Given the description of an element on the screen output the (x, y) to click on. 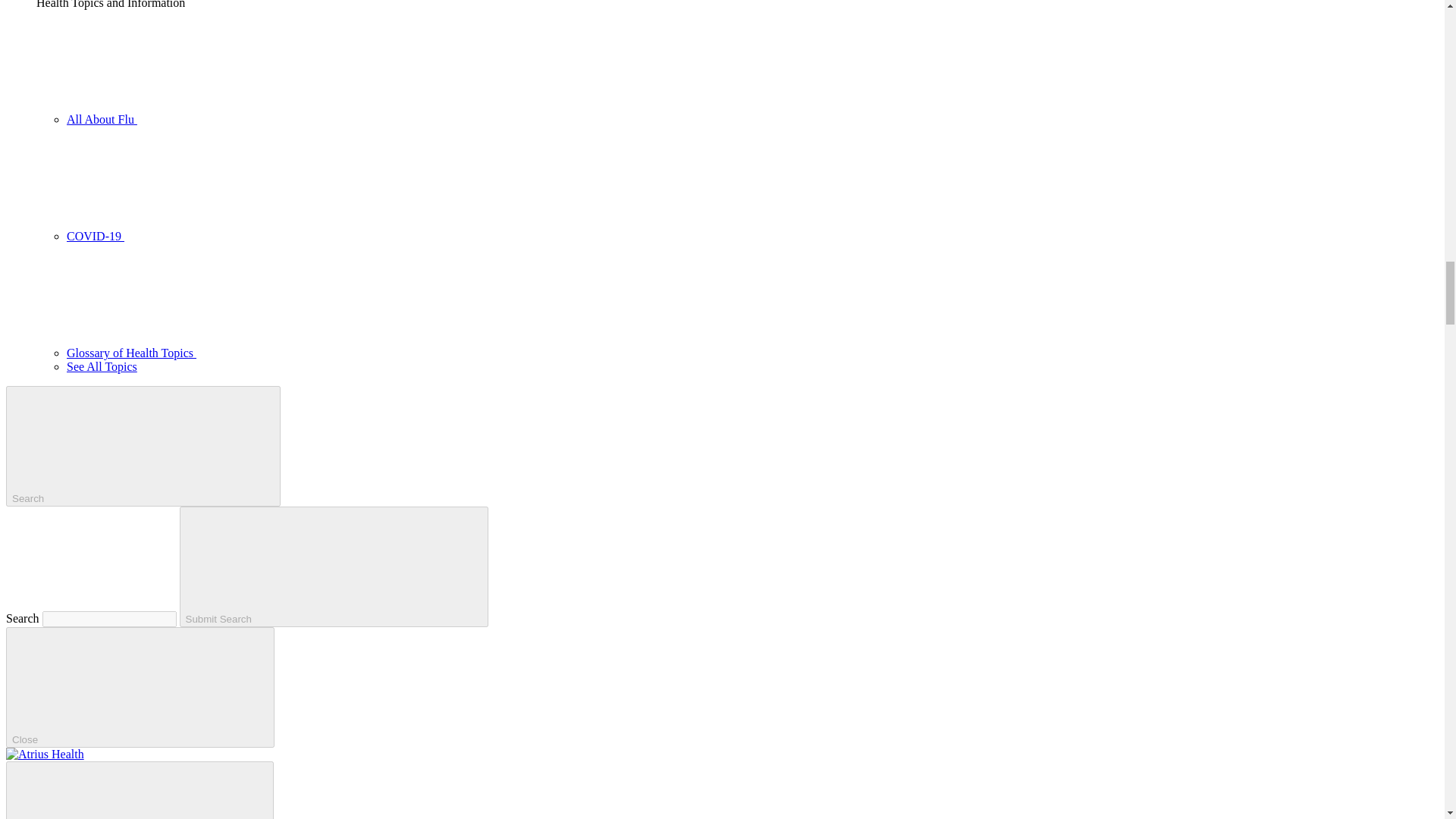
See All Topics (101, 366)
Search (143, 445)
Information about the flu and flu vaccine programs (215, 119)
Glossary of Health Topics (244, 352)
Glossary of Health Topics (244, 352)
Menu (139, 790)
Close (140, 687)
See All Topics (101, 366)
Submit Search (333, 566)
All About Flu (215, 119)
